Given the description of an element on the screen output the (x, y) to click on. 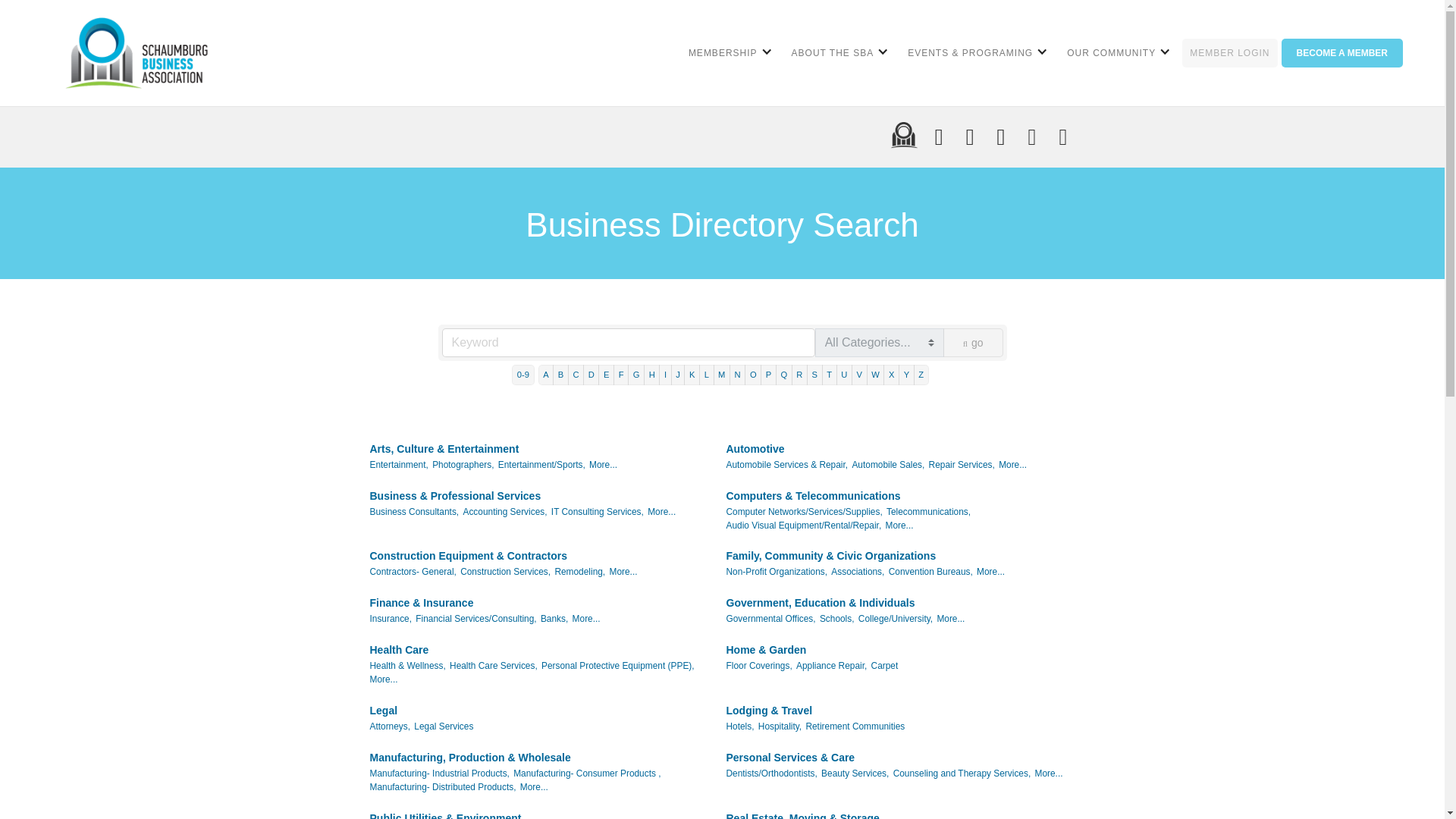
0-9 (523, 374)
go (973, 342)
MEMBER LOGIN (1229, 52)
BECOME A MEMBER (1342, 52)
